Given the description of an element on the screen output the (x, y) to click on. 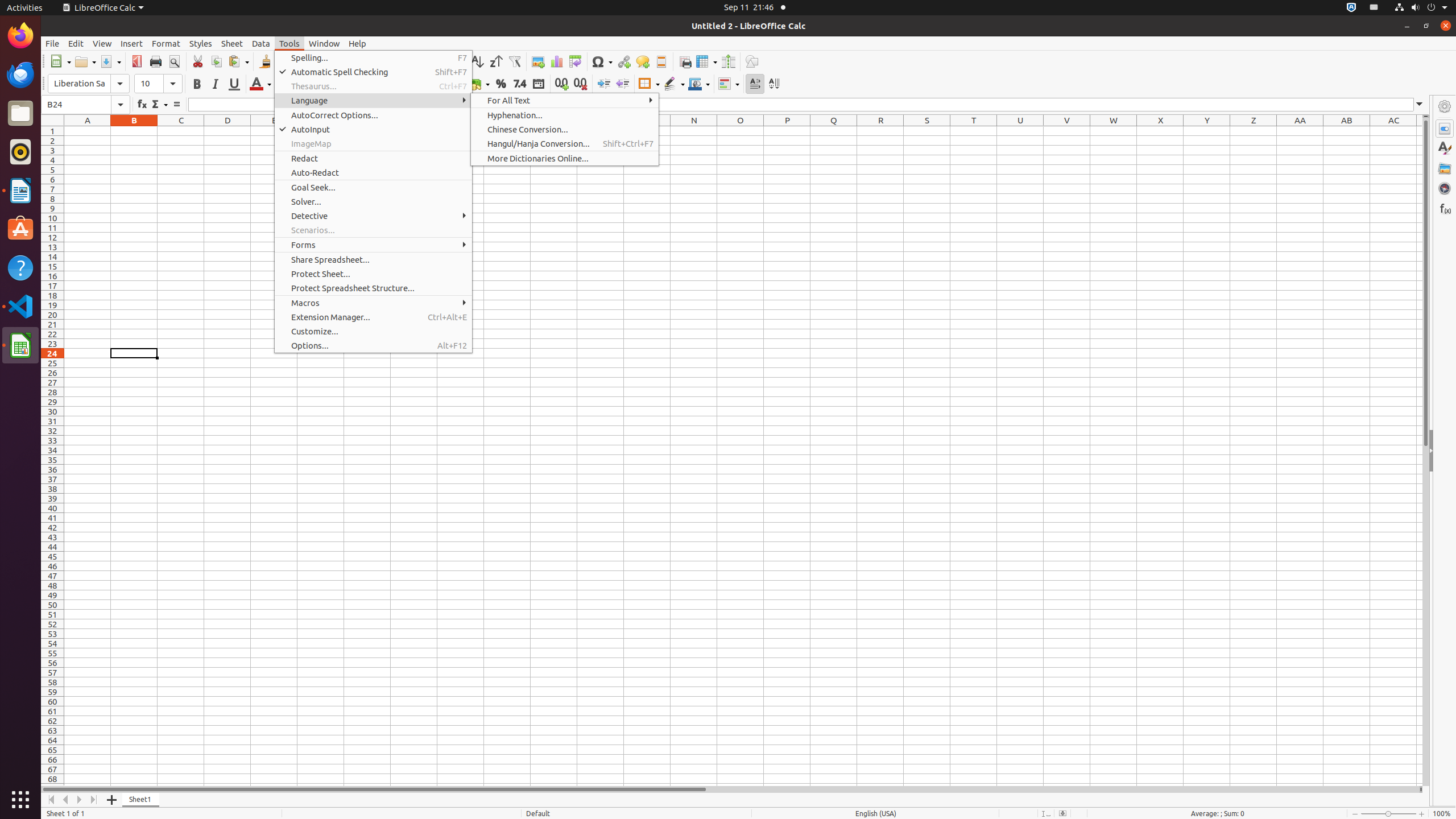
Apply Style Element type: text (41, 73)
Chart Element type: push-button (556, 61)
Options... Element type: menu-item (373, 345)
ImageMap Element type: menu-item (373, 143)
LibreOffice Calc Element type: push-button (20, 344)
